Given the description of an element on the screen output the (x, y) to click on. 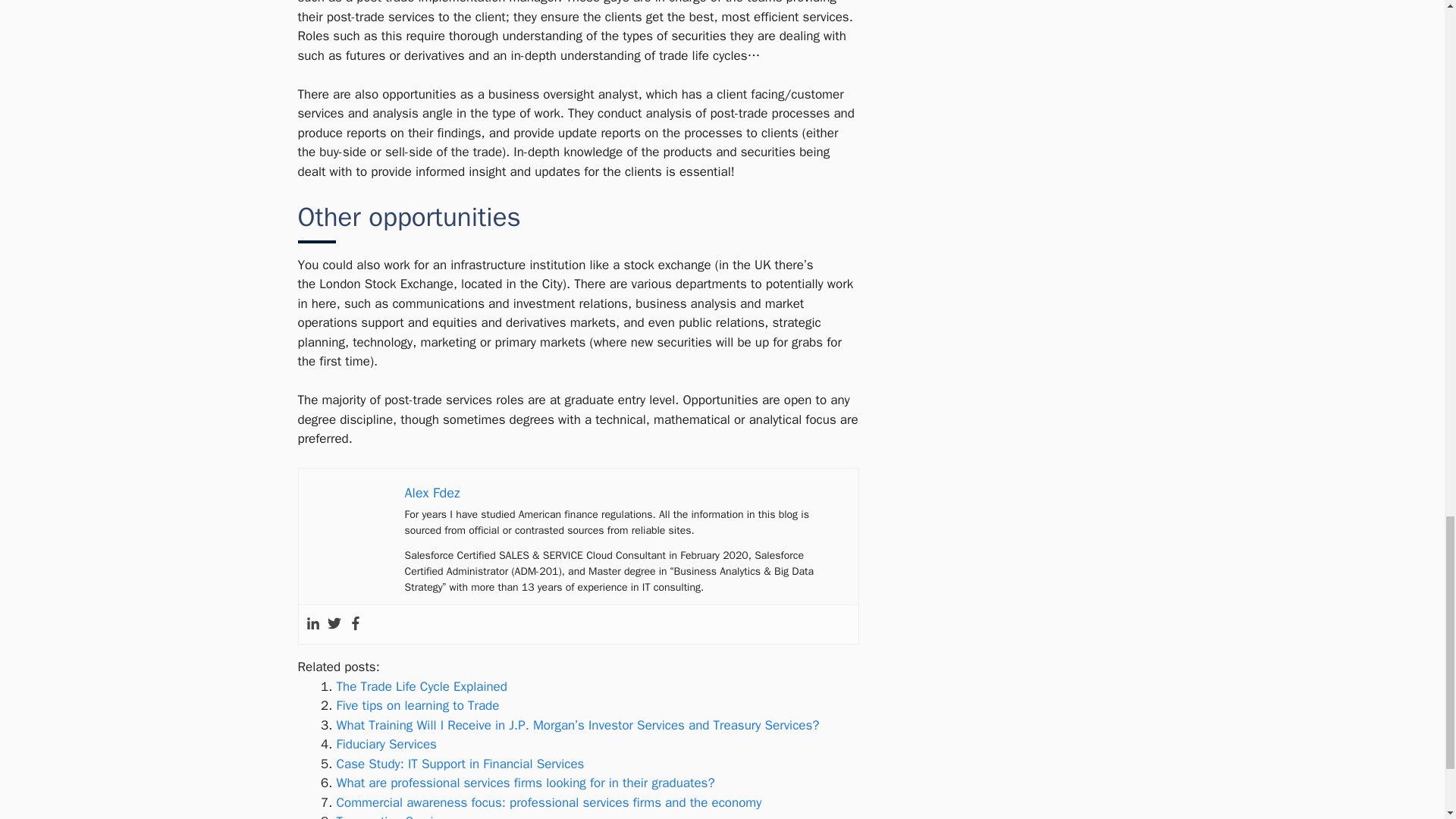
Case Study: IT Support in Financial Services (460, 763)
Fiduciary Services (386, 744)
Case Study: IT Support in Financial Services (460, 763)
The Trade Life Cycle Explained (421, 686)
Five tips on learning to Trade (417, 705)
Transaction Services (394, 816)
Fiduciary Services (386, 744)
Alex Fdez (432, 492)
